Given the description of an element on the screen output the (x, y) to click on. 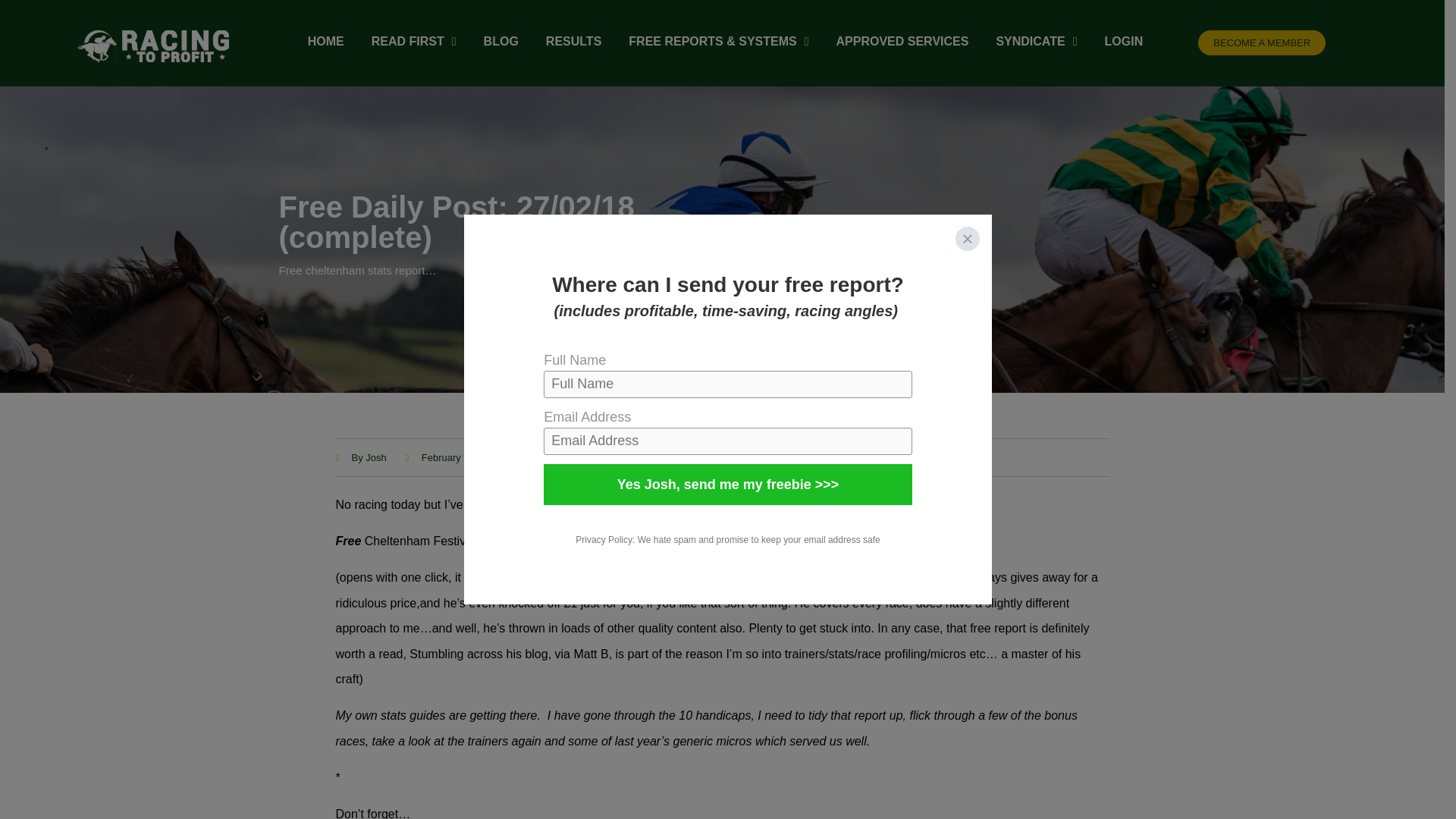
BLOG (500, 41)
BECOME A MEMBER (1261, 42)
HOME (325, 41)
APPROVED SERVICES (902, 41)
SYNDICATE (1036, 41)
LOGIN (1123, 41)
RESULTS (573, 41)
READ FIRST (414, 41)
